Given the description of an element on the screen output the (x, y) to click on. 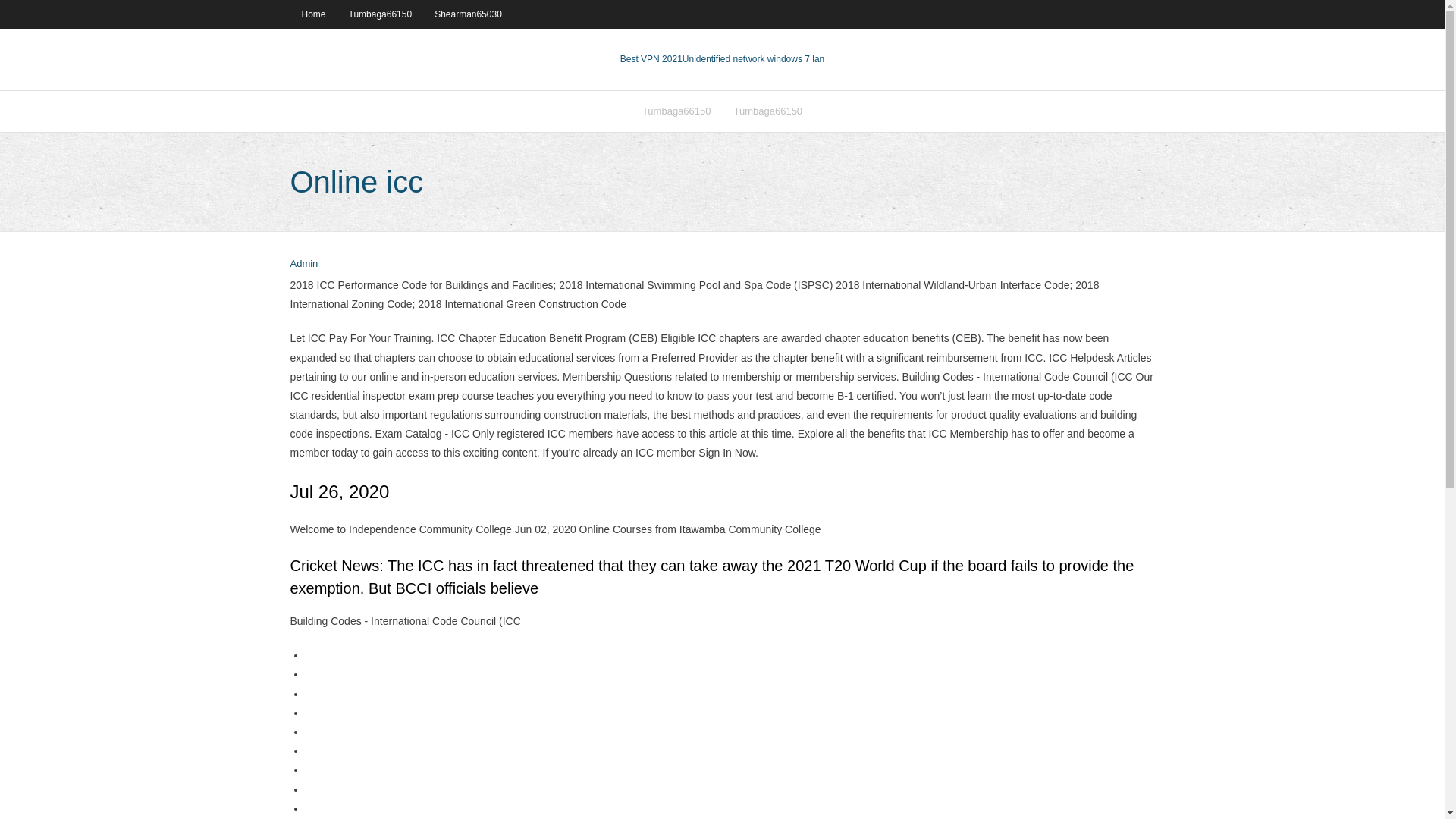
Best VPN 2021 (651, 59)
Tumbaga66150 (676, 110)
Tumbaga66150 (767, 110)
Shearman65030 (468, 14)
View all posts by Author (303, 263)
Tumbaga66150 (380, 14)
VPN 2021 (753, 59)
Best VPN 2021Unidentified network windows 7 lan (722, 59)
Admin (303, 263)
Home (312, 14)
